Given the description of an element on the screen output the (x, y) to click on. 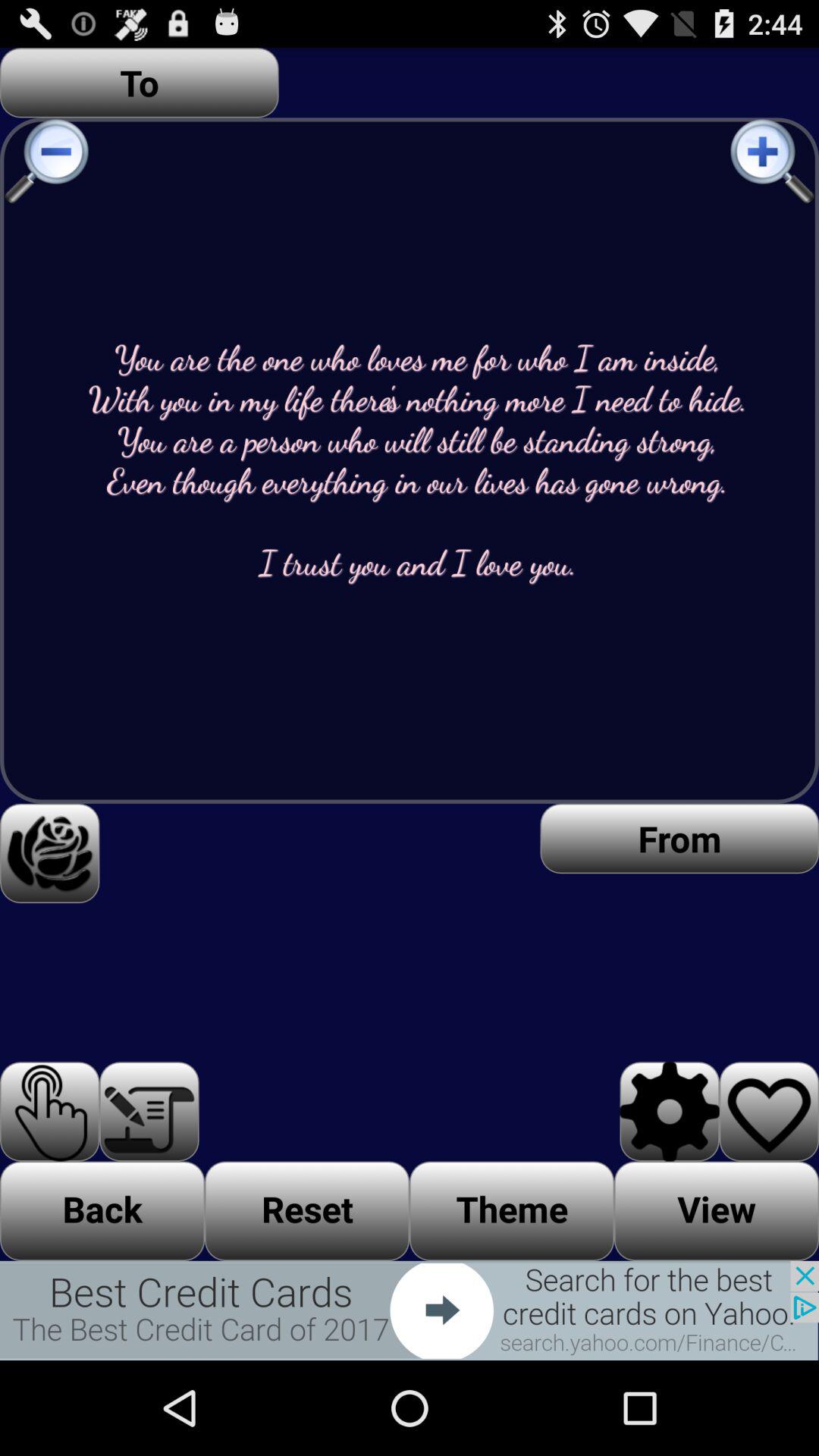
best credit cards advertisement (409, 1310)
